Given the description of an element on the screen output the (x, y) to click on. 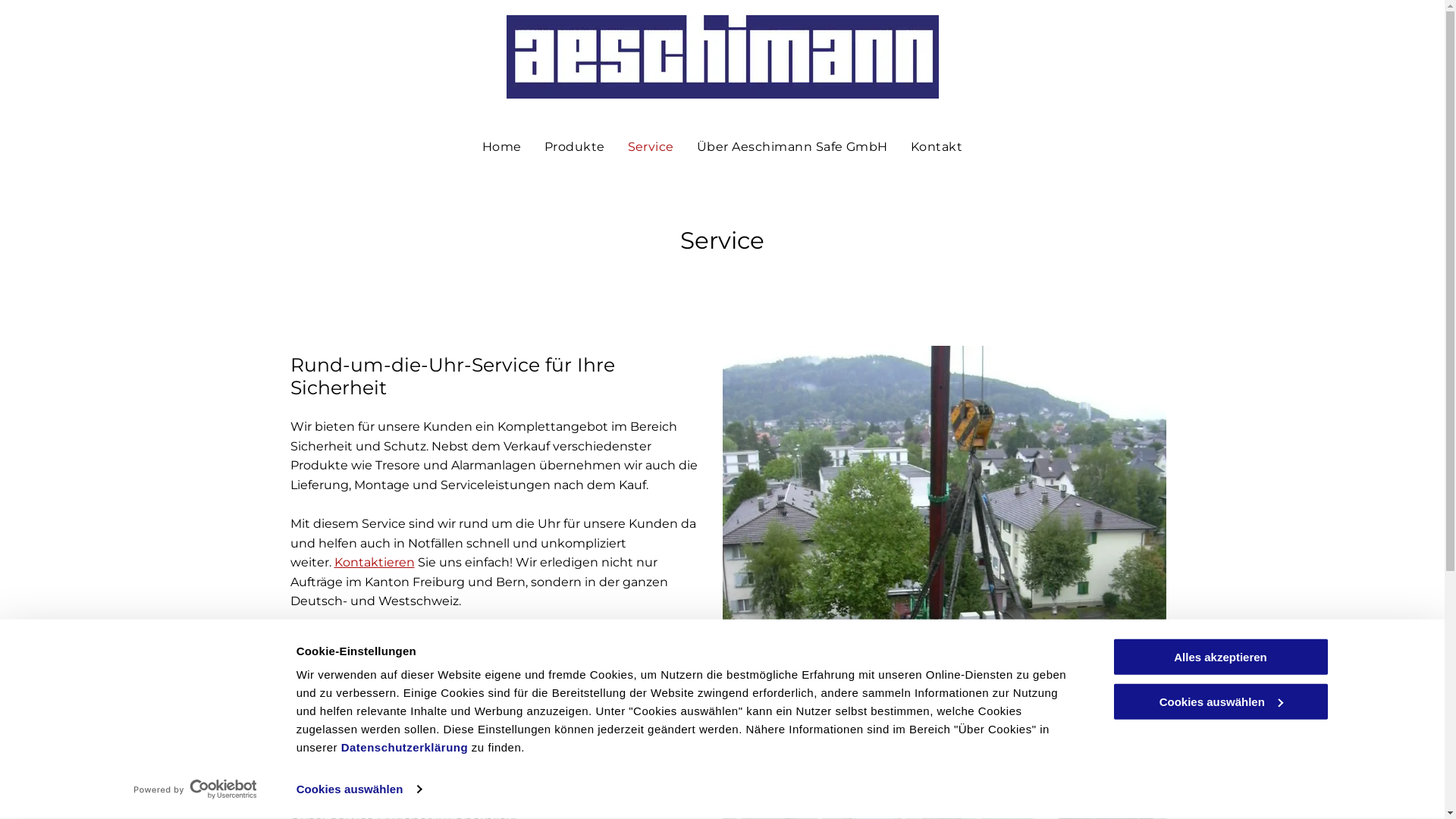
Produkte Element type: text (574, 147)
Kontaktieren Element type: text (373, 562)
Home Element type: text (501, 147)
Alles akzeptieren Element type: text (1219, 656)
Kontakt Element type: text (936, 147)
Service Element type: text (649, 147)
